Given the description of an element on the screen output the (x, y) to click on. 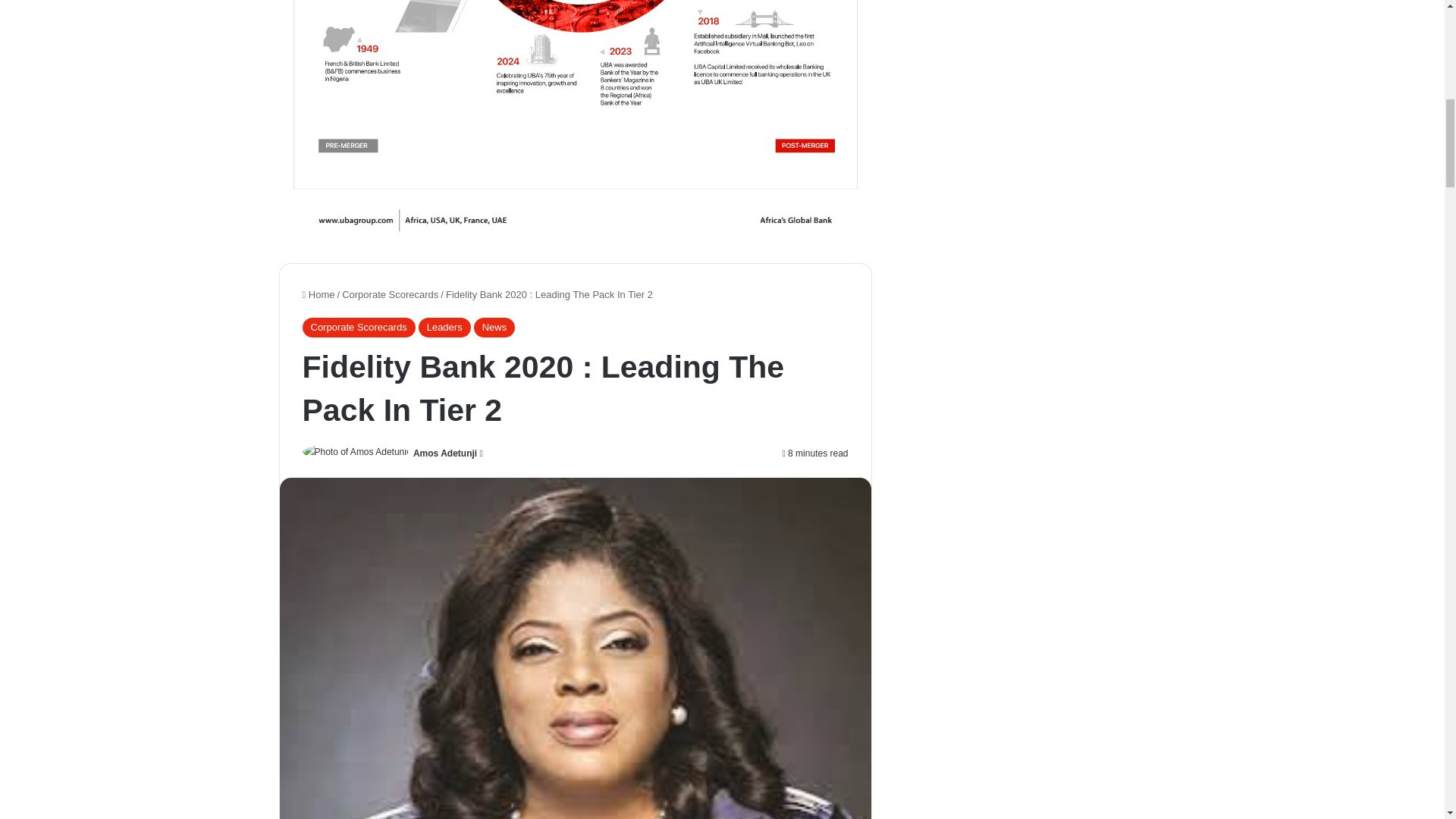
News (494, 327)
Corporate Scorecards (390, 294)
Amos Adetunji (445, 452)
Corporate Scorecards (357, 327)
Leaders (444, 327)
Home (317, 294)
Amos Adetunji (445, 452)
